Given the description of an element on the screen output the (x, y) to click on. 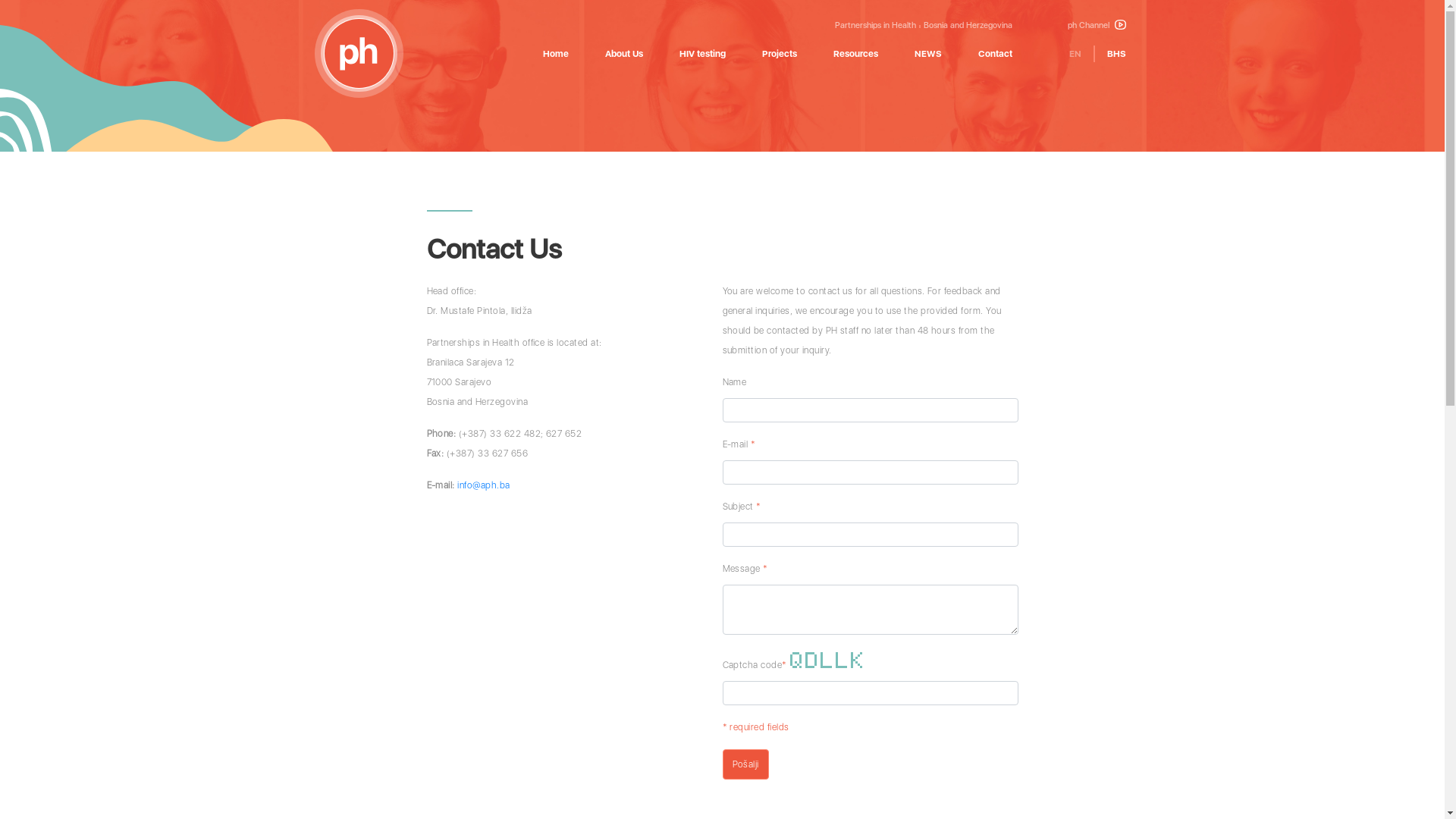
Contact Element type: text (995, 53)
Projects Element type: text (778, 53)
ph Channel Element type: text (1096, 25)
Bosnia and Herzegovina Element type: text (967, 25)
Partnerships in Health Element type: text (874, 25)
HIV testing Element type: text (702, 53)
Home Element type: text (555, 53)
EN Element type: text (1075, 53)
Resources Element type: text (854, 53)
info@aph.ba Element type: text (483, 485)
BHS Element type: text (1116, 53)
About Us Element type: text (624, 53)
NEWS Element type: text (927, 53)
